Given the description of an element on the screen output the (x, y) to click on. 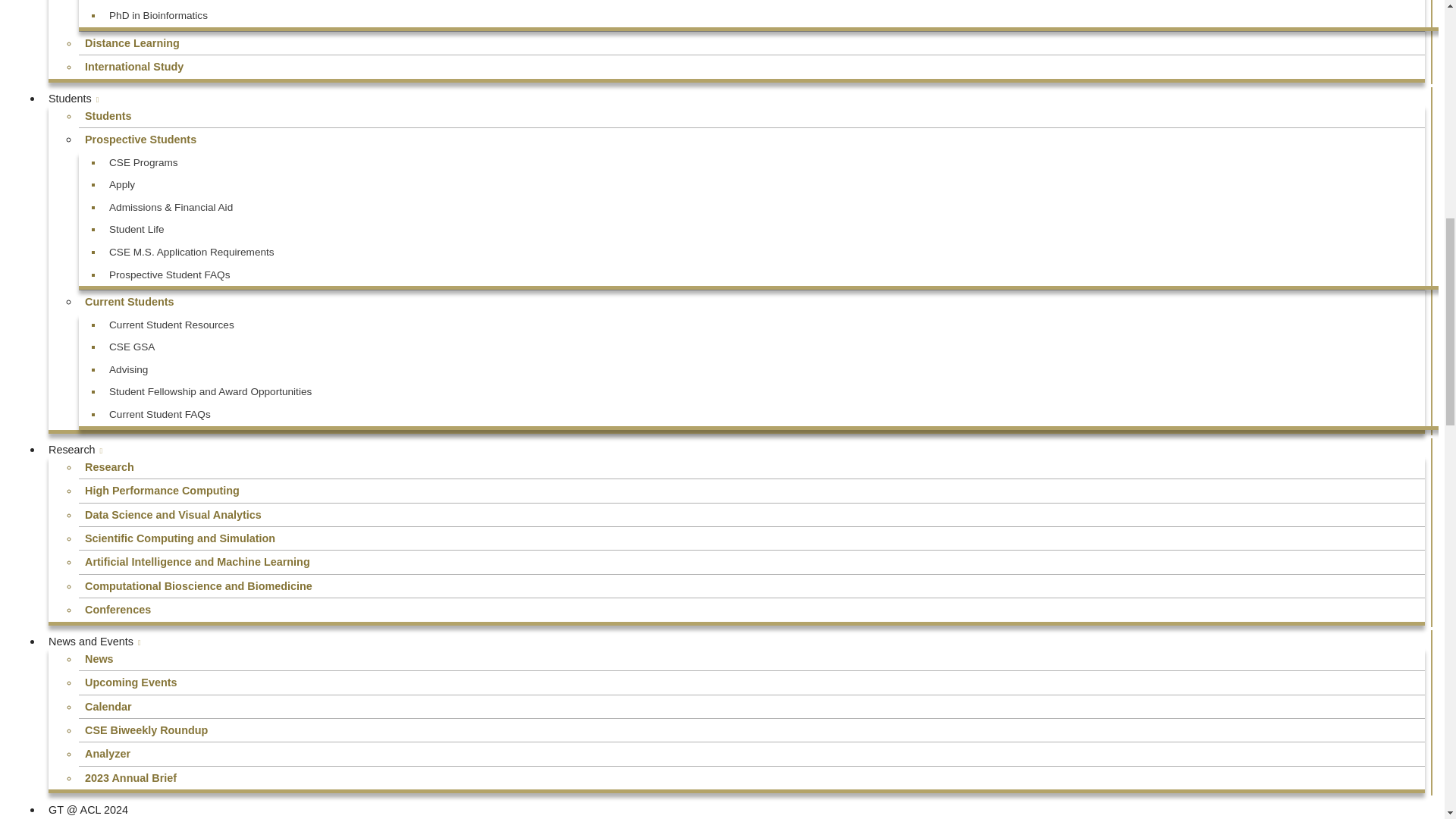
Calendar (751, 706)
Upcoming Events (751, 681)
News (751, 658)
Distance Learning (751, 42)
